Given the description of an element on the screen output the (x, y) to click on. 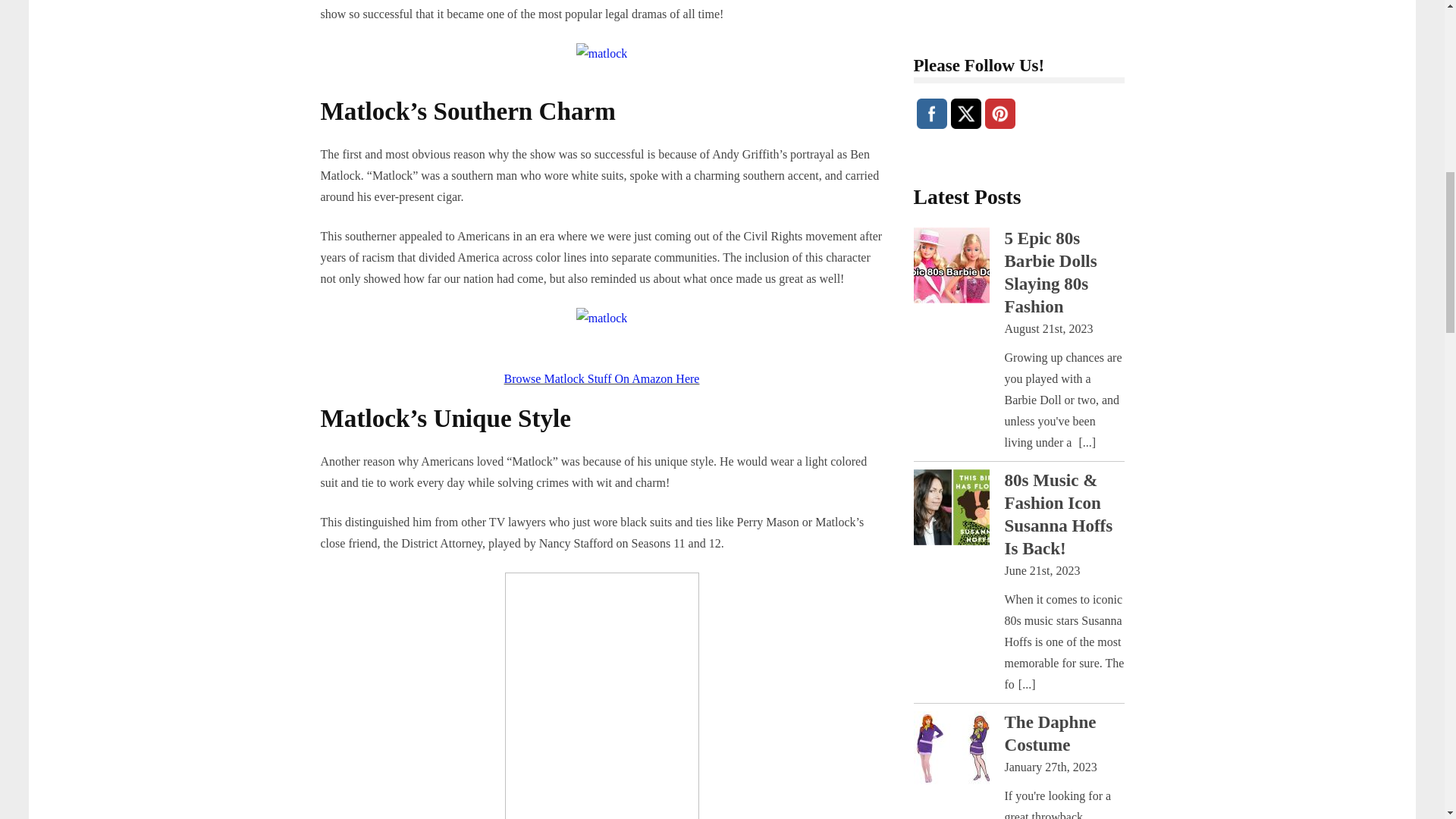
Browse Matlock Stuff On Amazon Here (601, 378)
The Daphne Costume (1050, 71)
The Daphne Costume (950, 90)
